Given the description of an element on the screen output the (x, y) to click on. 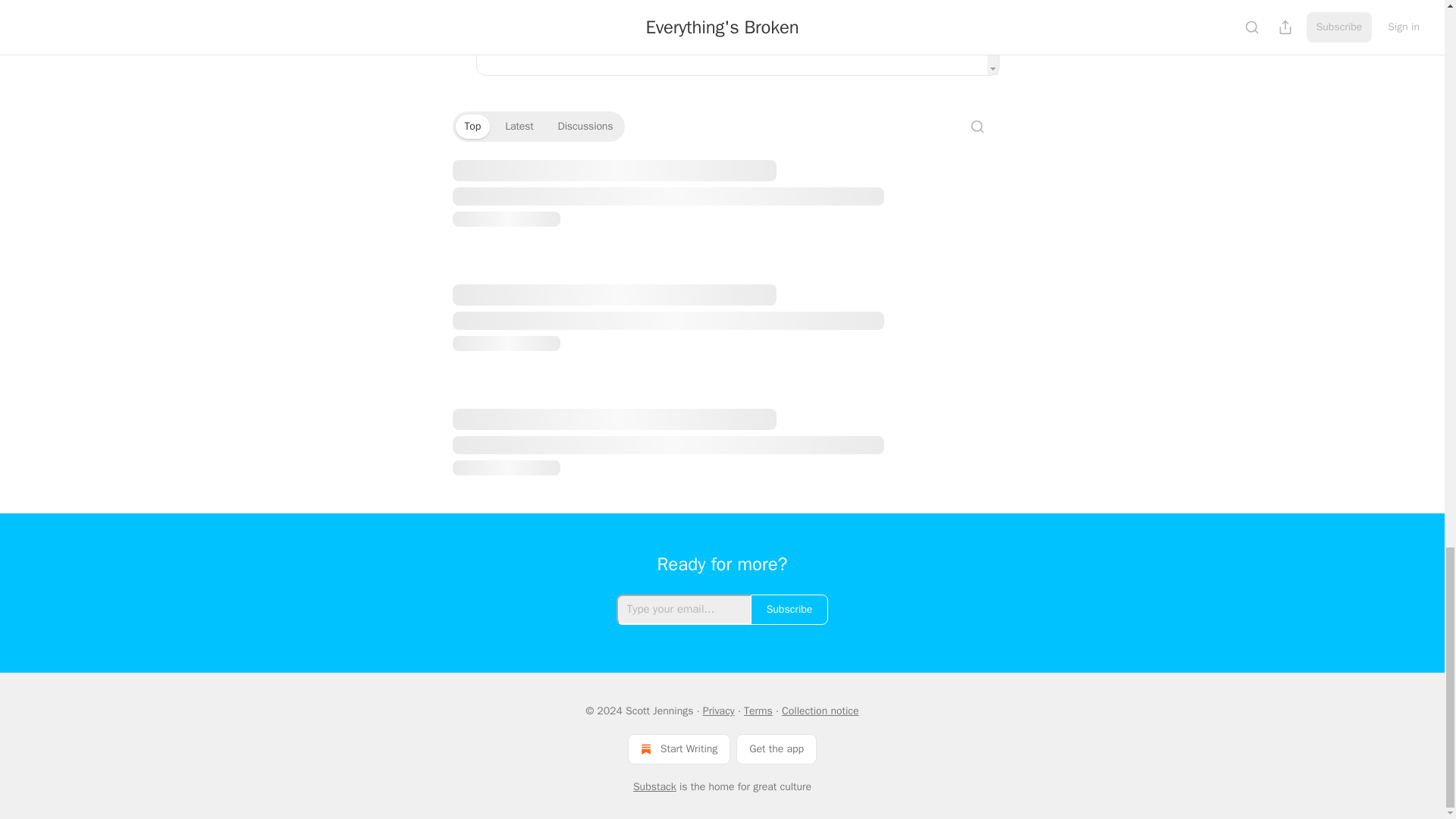
Discussions (585, 126)
Top (471, 126)
Latest (518, 126)
